Given the description of an element on the screen output the (x, y) to click on. 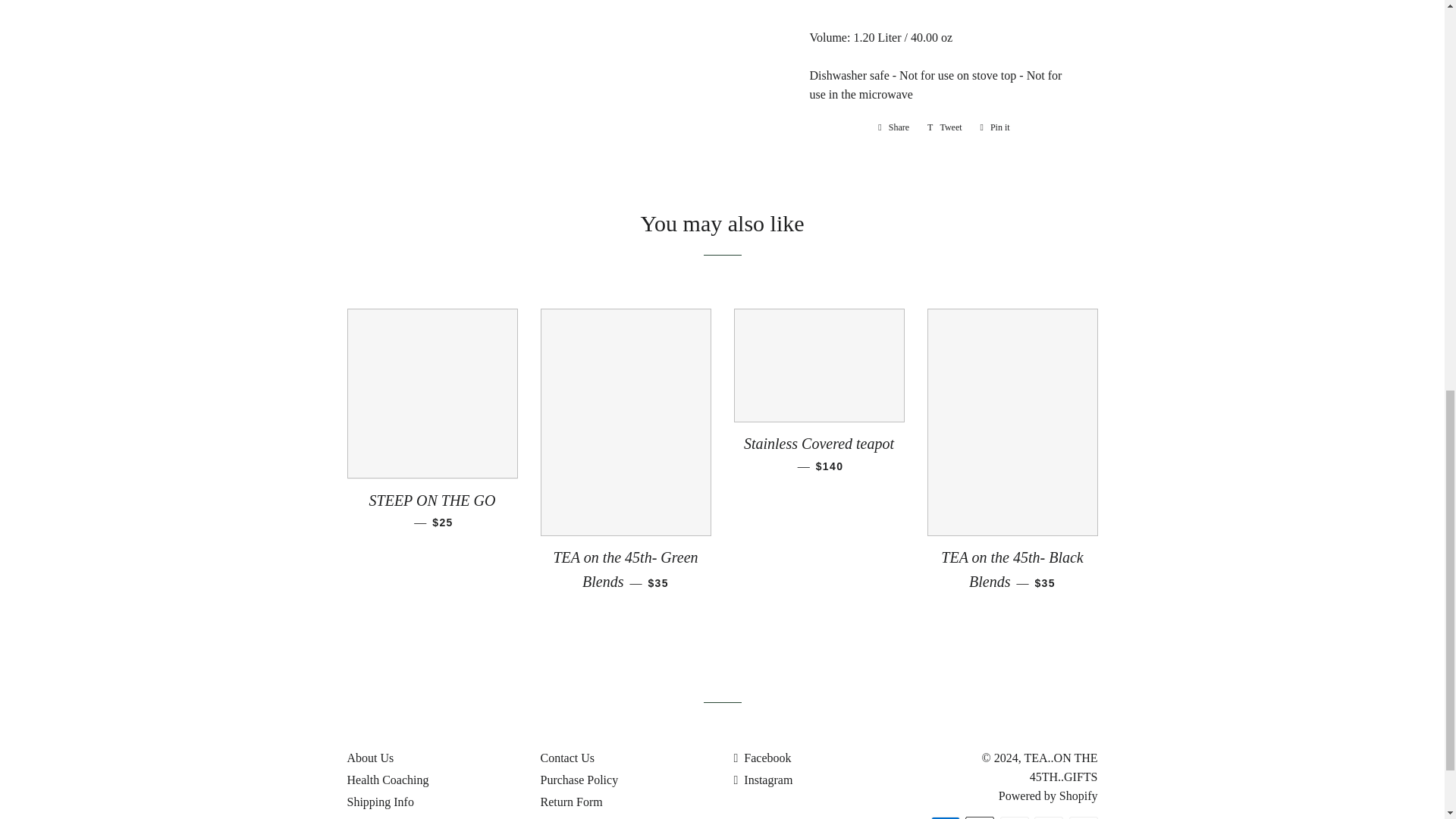
TEA..ON THE 45TH..GIFTS on Facebook (762, 757)
Apple Pay (979, 817)
American Express (945, 817)
Discover (1047, 817)
TEA..ON THE 45TH..GIFTS on Instagram (763, 779)
Pin on Pinterest (944, 126)
Tweet on Twitter (994, 126)
